Given the description of an element on the screen output the (x, y) to click on. 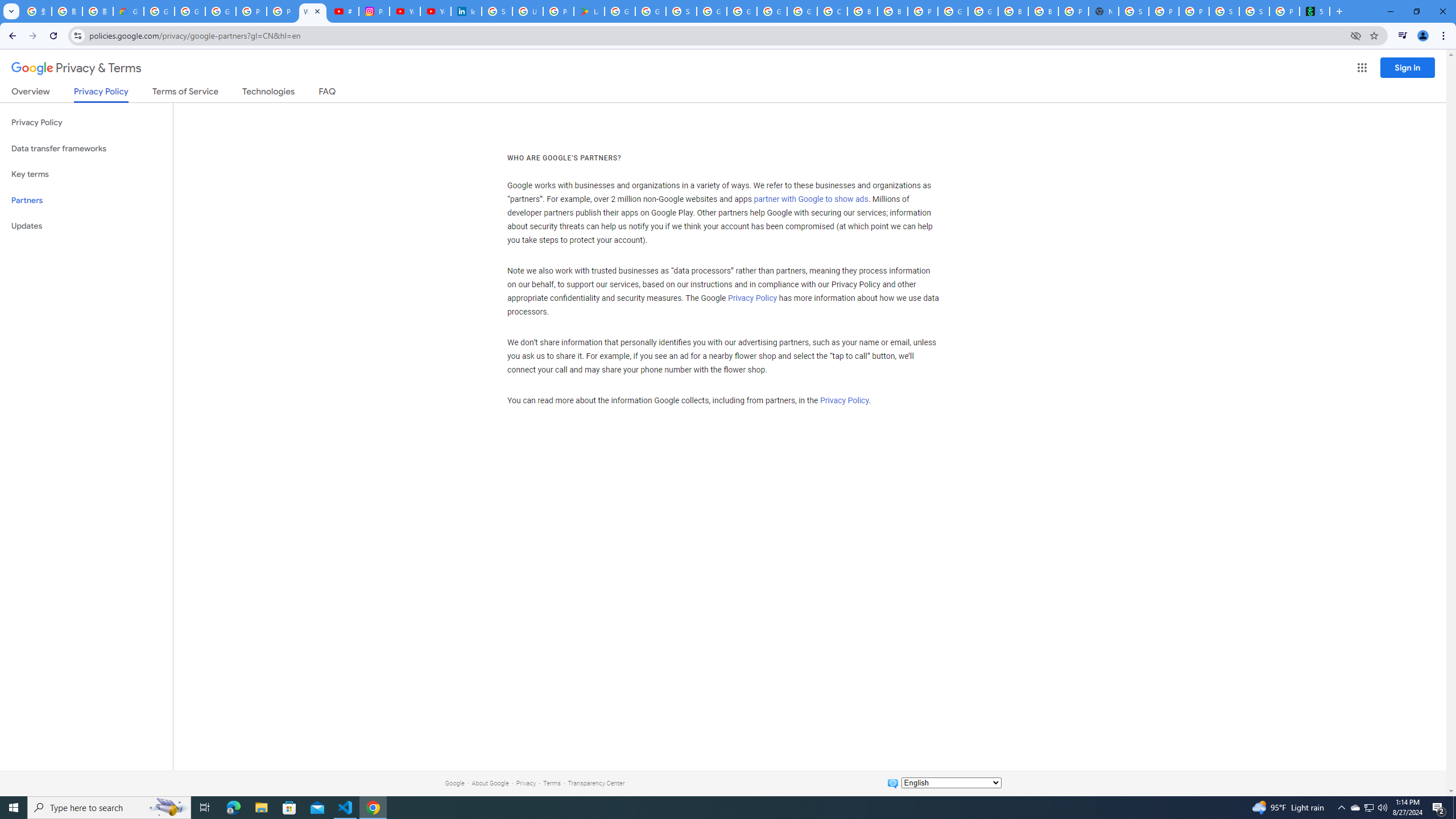
Last Shelter: Survival - Apps on Google Play (589, 11)
Change language: (951, 782)
About Google (490, 783)
Google Cloud Platform (982, 11)
